Given the description of an element on the screen output the (x, y) to click on. 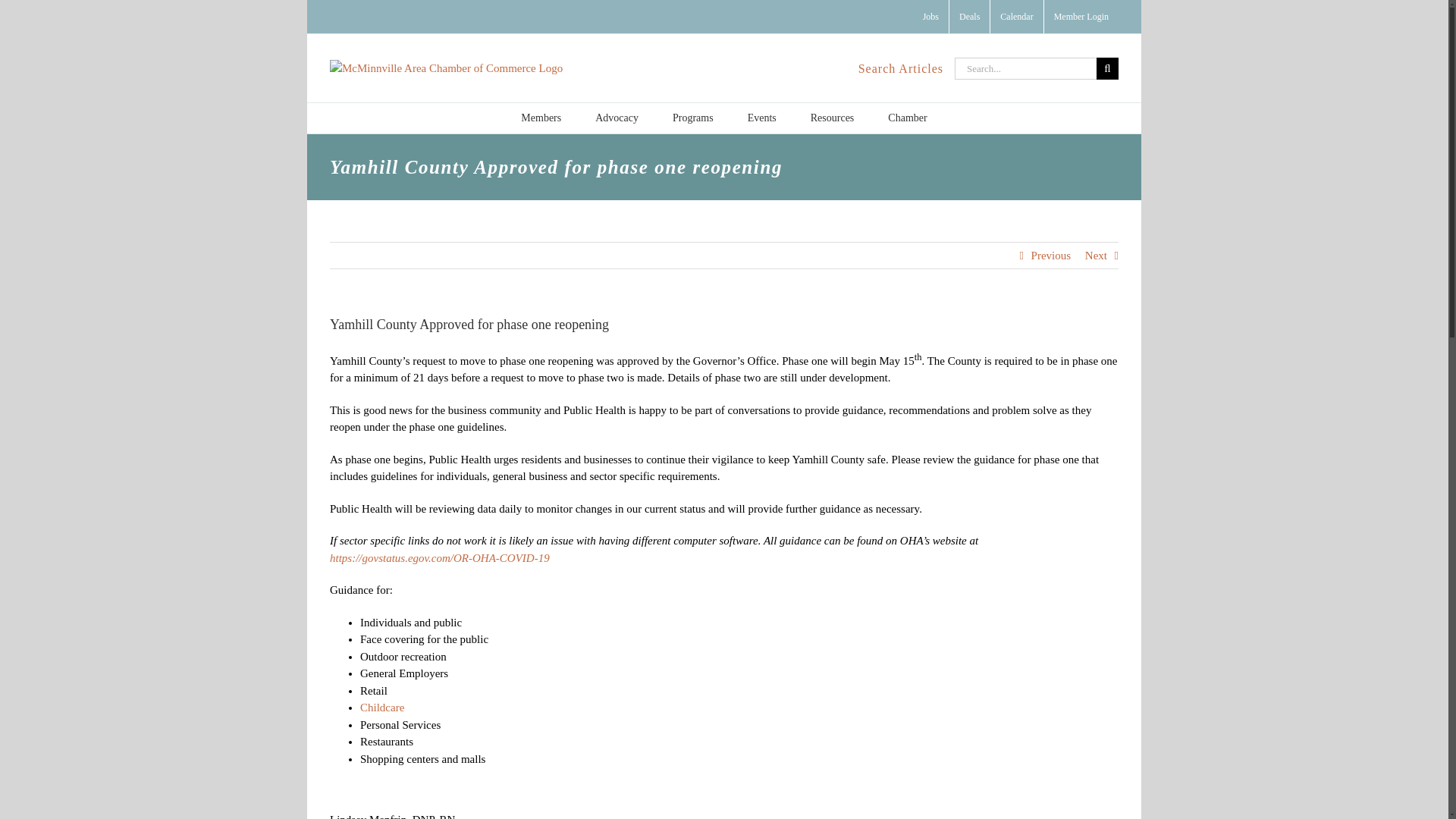
Members (540, 118)
Deals (969, 16)
Events (762, 118)
Jobs (930, 16)
Member Login (1080, 16)
Advocacy (617, 118)
Chamber (907, 118)
Resources (832, 118)
Programs (692, 118)
Calendar (1016, 16)
